Given the description of an element on the screen output the (x, y) to click on. 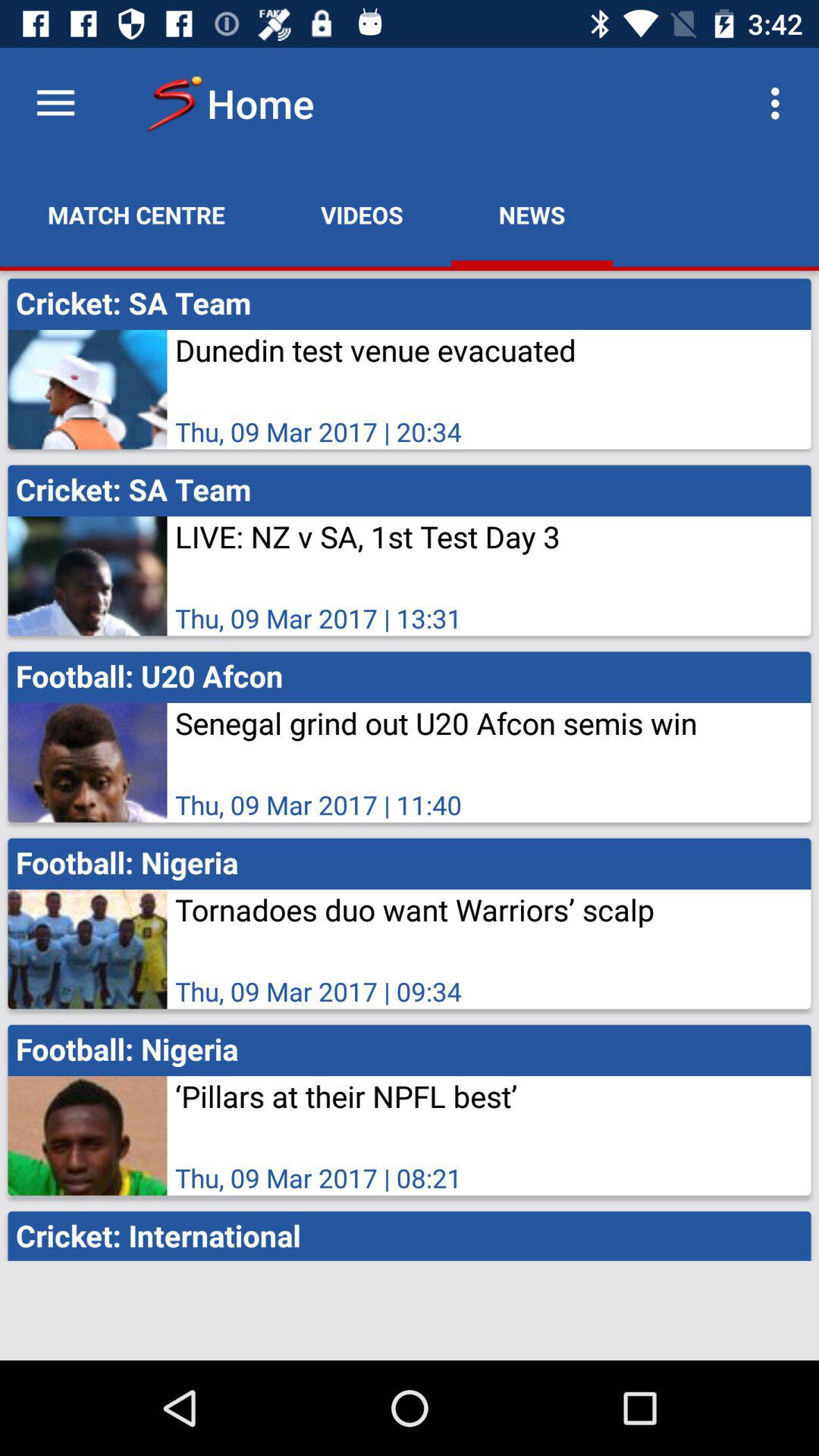
flip until the match centre app (136, 214)
